Given the description of an element on the screen output the (x, y) to click on. 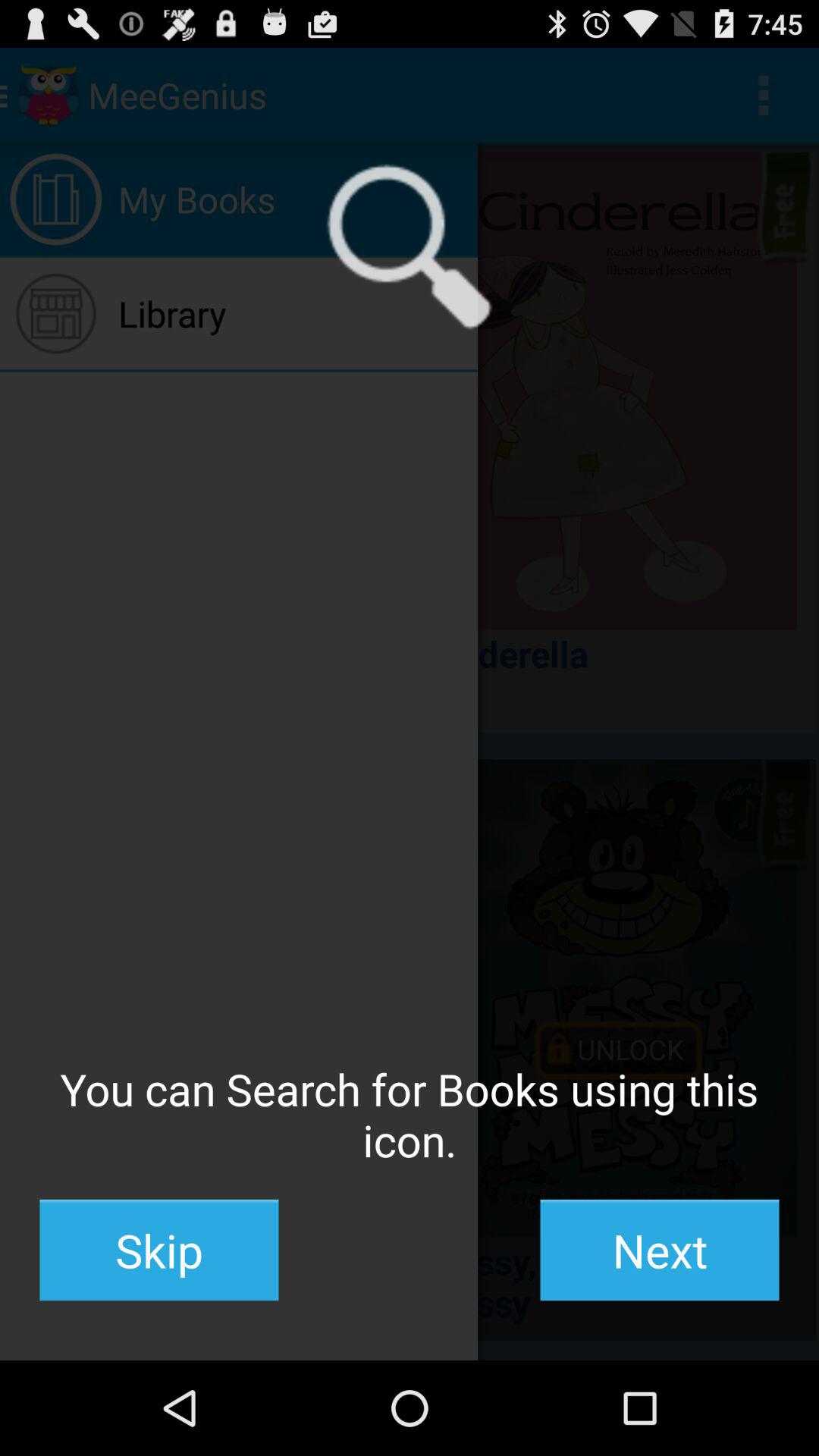
launch skip (158, 1249)
